Given the description of an element on the screen output the (x, y) to click on. 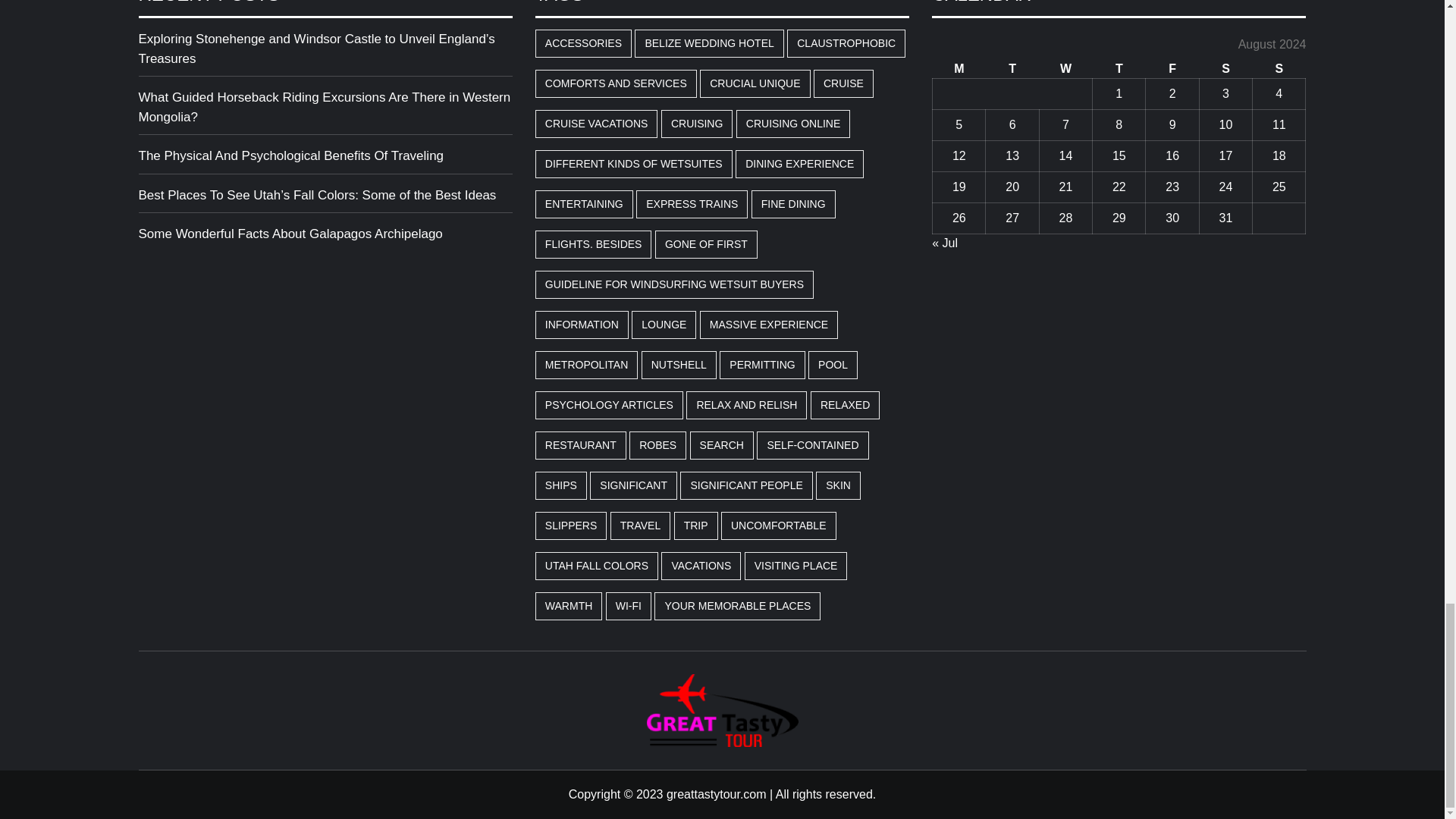
Tuesday (1012, 68)
Sunday (1279, 68)
Saturday (1225, 68)
Friday (1171, 68)
Monday (959, 68)
Wednesday (1065, 68)
Thursday (1119, 68)
